Given the description of an element on the screen output the (x, y) to click on. 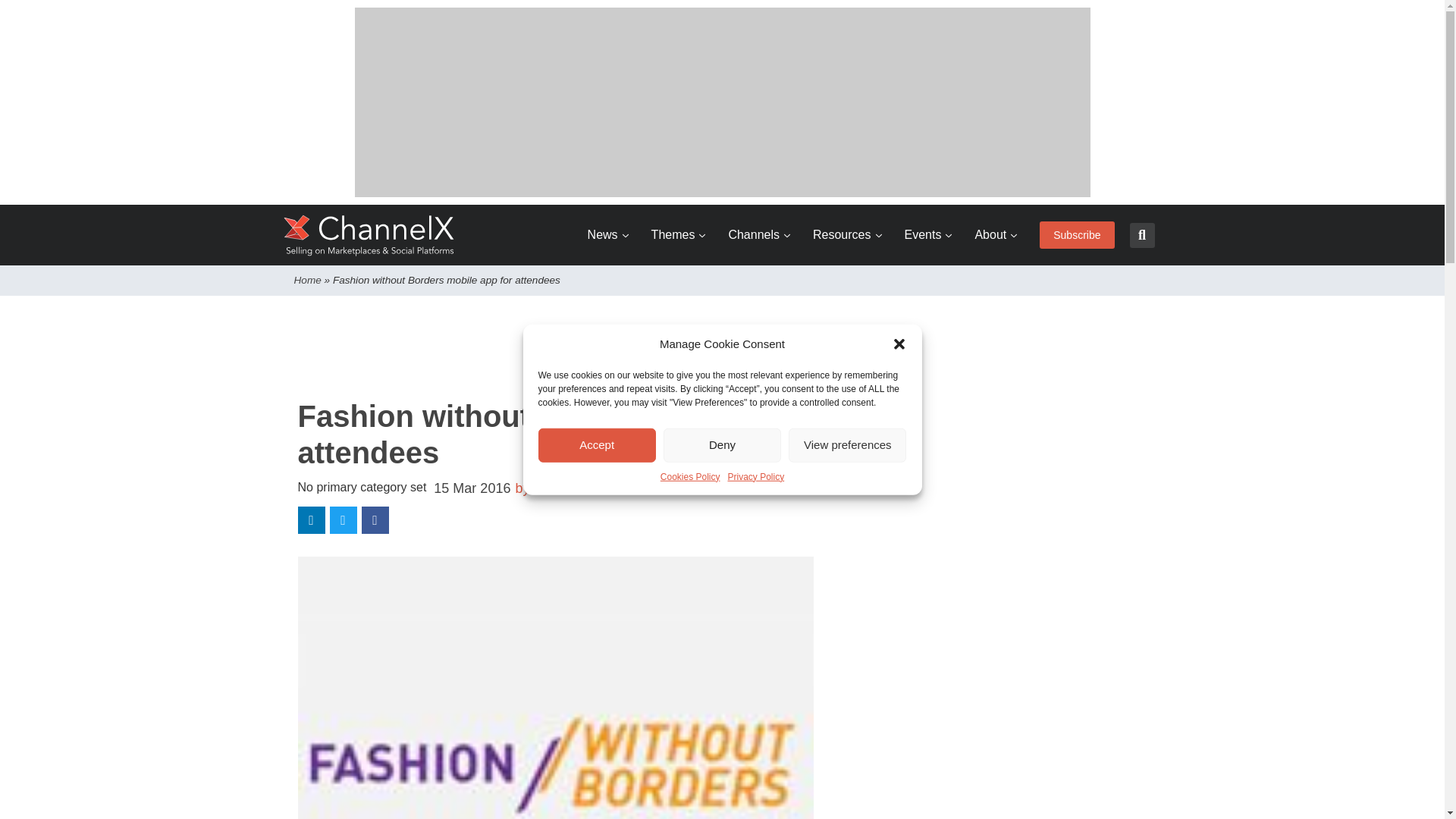
Cookies Policy (690, 476)
Channels (758, 234)
ChannelX Home Page (369, 234)
View preferences (847, 444)
Deny (721, 444)
Accept (597, 444)
Privacy Policy (756, 476)
News (607, 234)
Themes (678, 234)
